Given the description of an element on the screen output the (x, y) to click on. 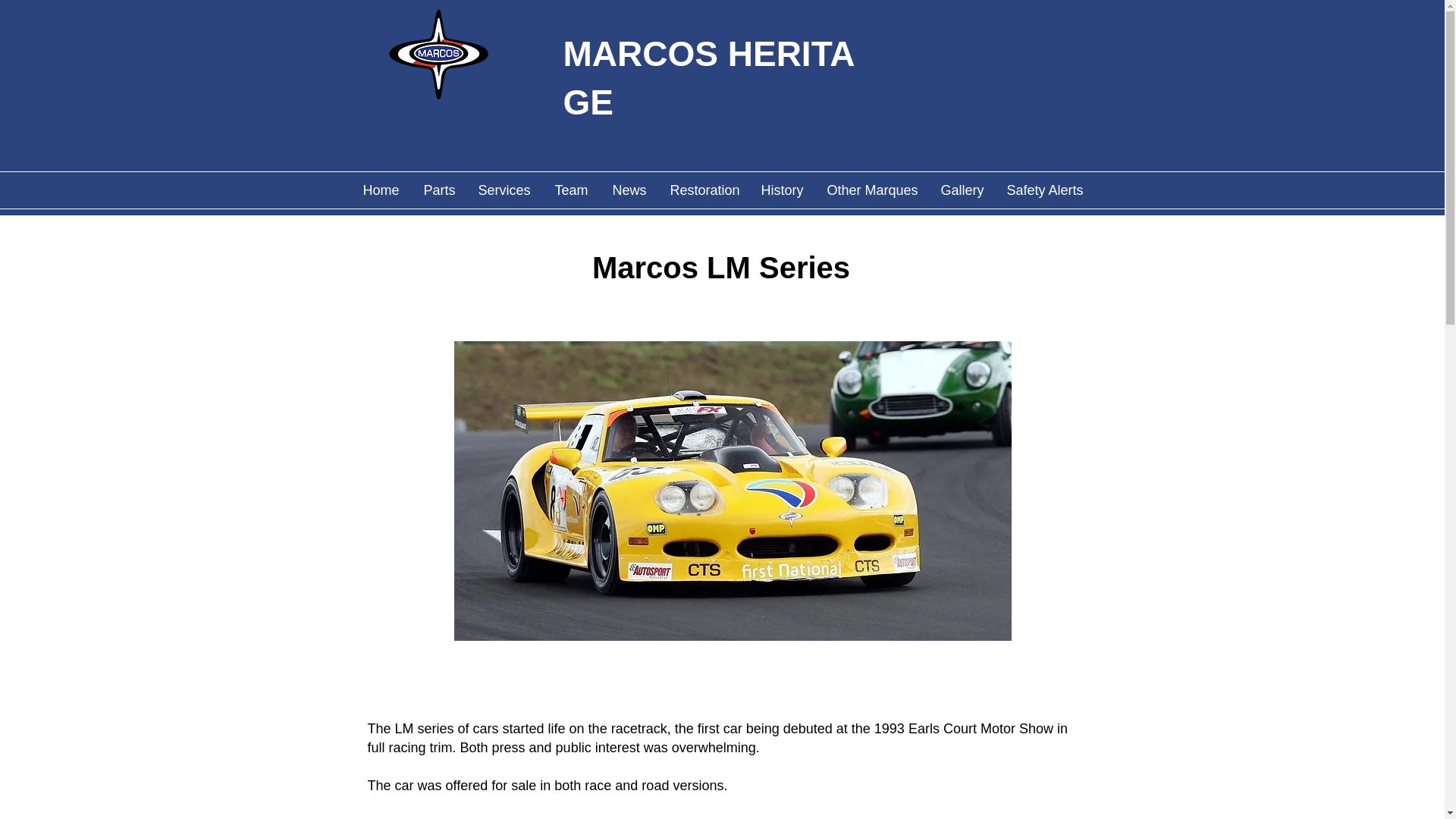
Home (380, 190)
Services (504, 190)
Safety Alerts (1043, 190)
News (628, 190)
Team (571, 190)
give me strength.png (437, 53)
Gallery (962, 190)
Restoration (703, 190)
Parts (438, 190)
Other Marques (871, 190)
History (781, 190)
